Given the description of an element on the screen output the (x, y) to click on. 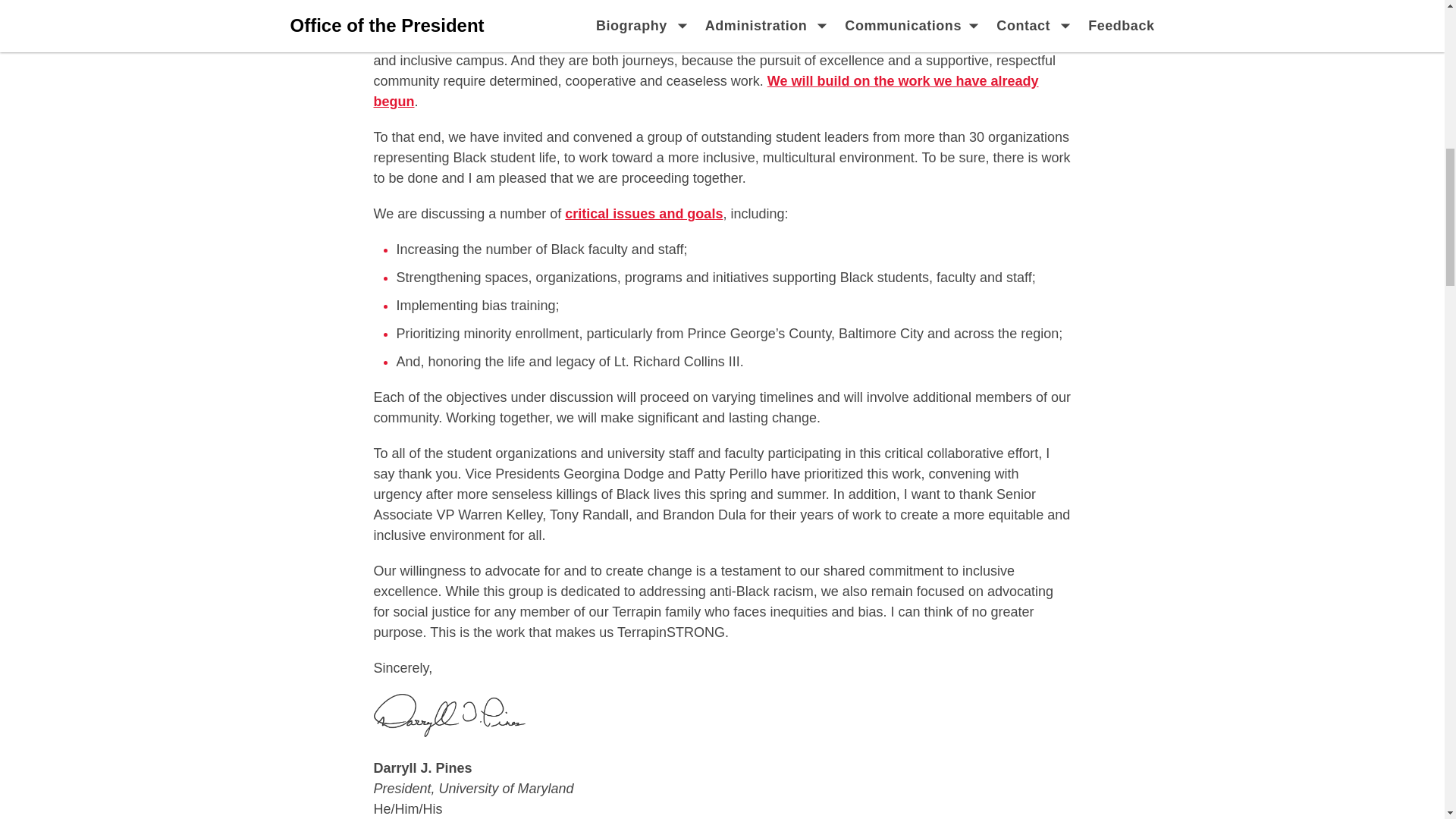
We will build on the work we have already begun (705, 90)
critical issues and goals (643, 213)
